Given the description of an element on the screen output the (x, y) to click on. 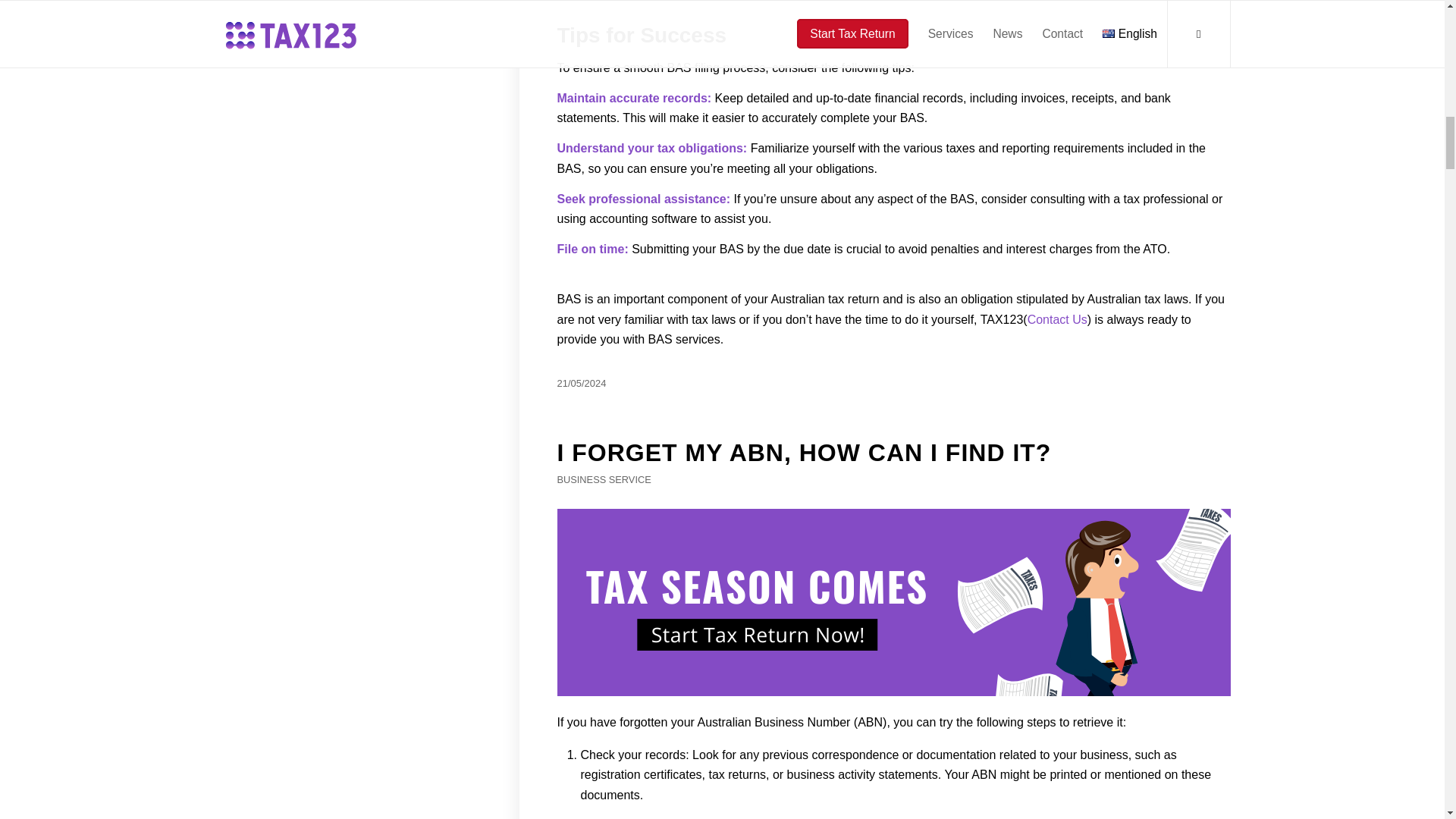
I FORGET MY ABN, HOW CAN I FIND IT? (803, 452)
Contact Us (1057, 318)
BUSINESS SERVICE (603, 479)
Permanent Link: I forget my ABN, how can I find it? (803, 452)
